Given the description of an element on the screen output the (x, y) to click on. 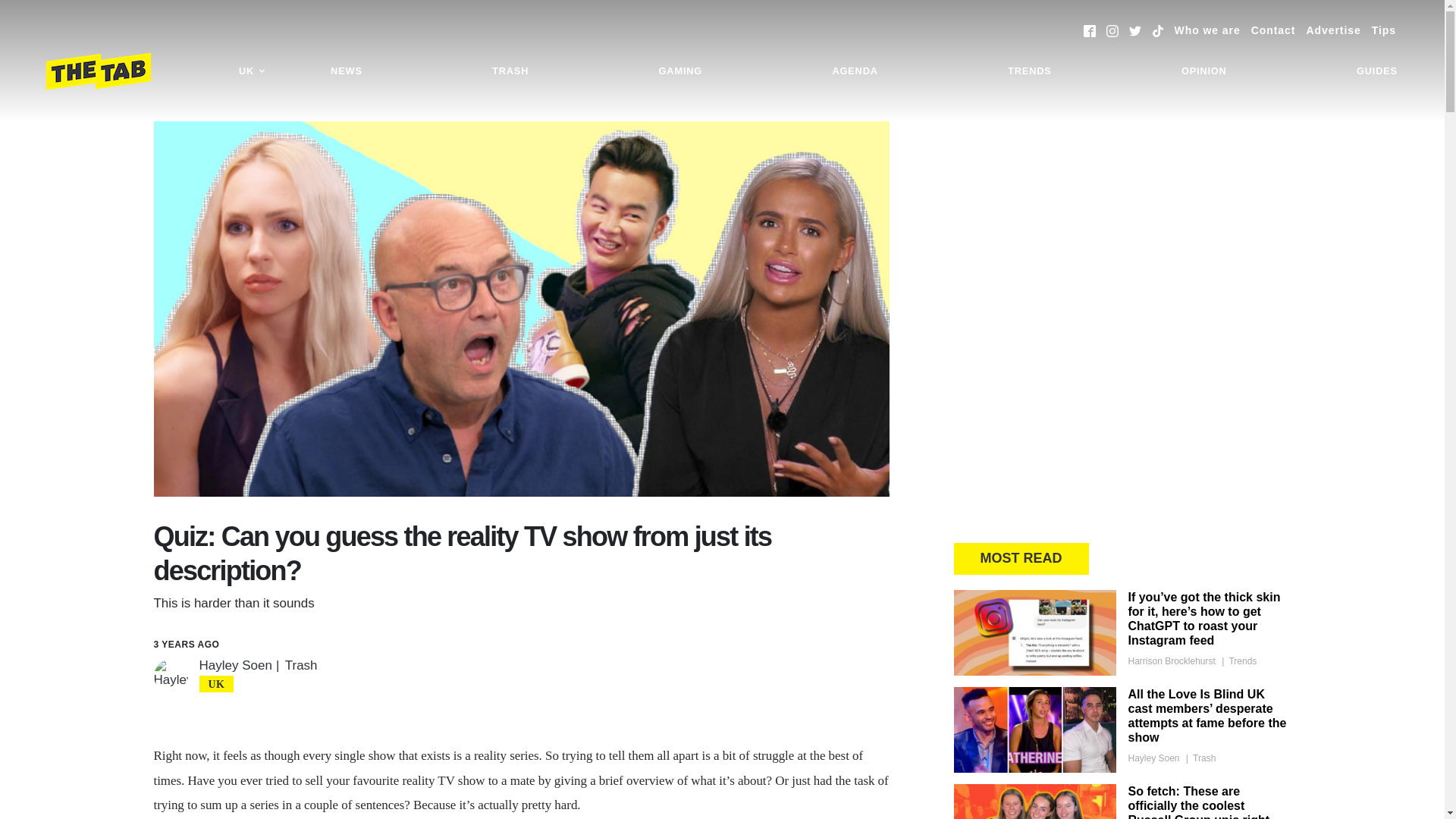
Tips (1383, 29)
Who we are (1207, 29)
AGENDA (854, 71)
Contact (1272, 29)
GAMING (680, 71)
GUIDES (1377, 71)
OPINION (1204, 71)
Advertise (1332, 29)
TRENDS (1028, 71)
TRASH (510, 71)
